Given the description of an element on the screen output the (x, y) to click on. 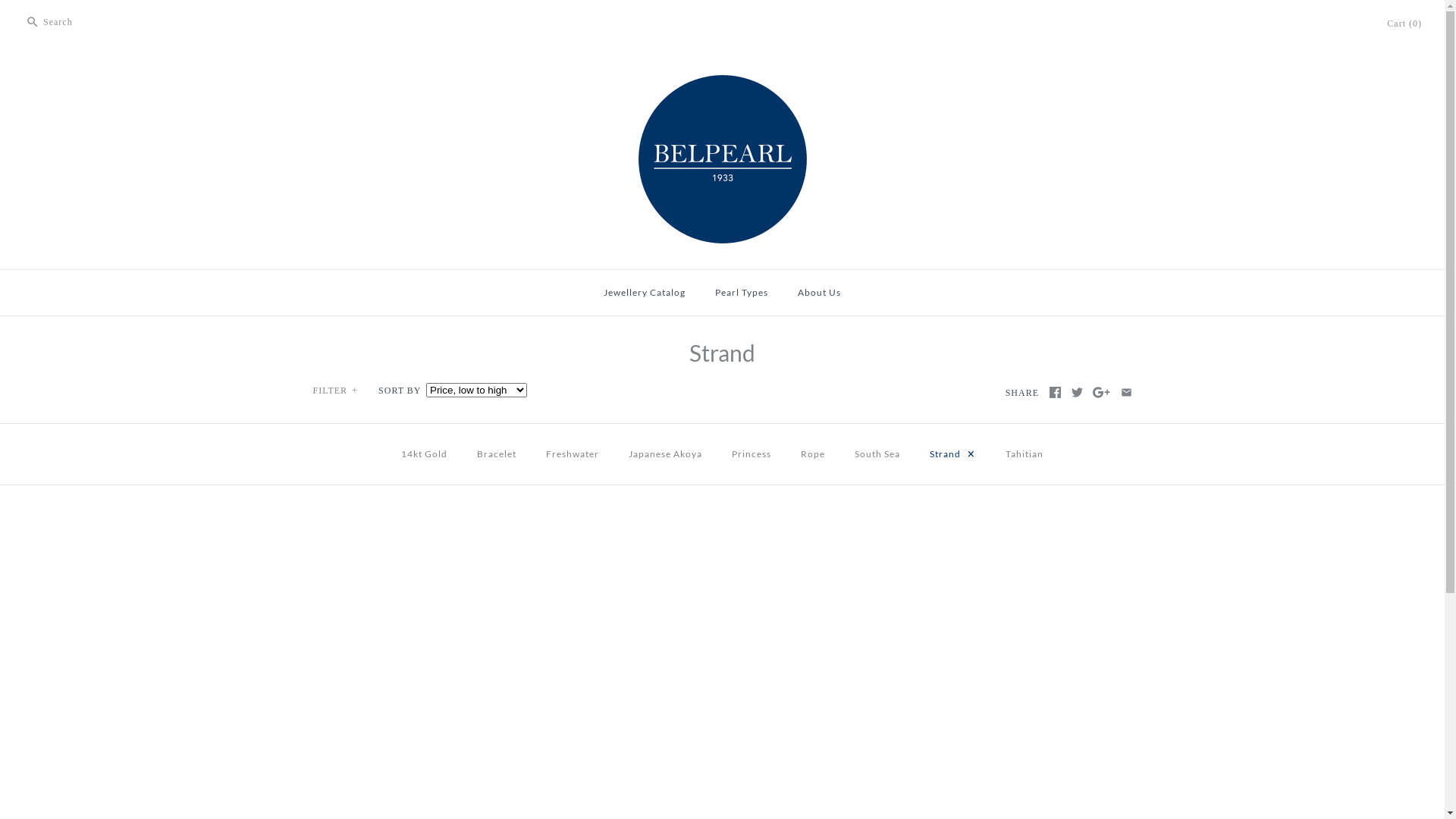
Belpearl 1933 Element type: hover (722, 73)
Jewellery Catalog Element type: text (644, 292)
FILTER + Element type: text (335, 390)
Pearl Types Element type: text (741, 292)
Twitter Element type: text (1076, 392)
Facebook Element type: text (1054, 392)
Cart (0) Element type: text (1403, 23)
GooglePlus Element type: text (1101, 392)
South Sea Element type: text (876, 454)
About Us Element type: text (819, 292)
Japanese Akoya Element type: text (665, 454)
Bracelet Element type: text (496, 454)
Rope Element type: text (812, 454)
Email Element type: text (1126, 392)
14kt Gold Element type: text (424, 454)
Princess Element type: text (751, 454)
Freshwater Element type: text (572, 454)
Tahitian Element type: text (1024, 454)
